Given the description of an element on the screen output the (x, y) to click on. 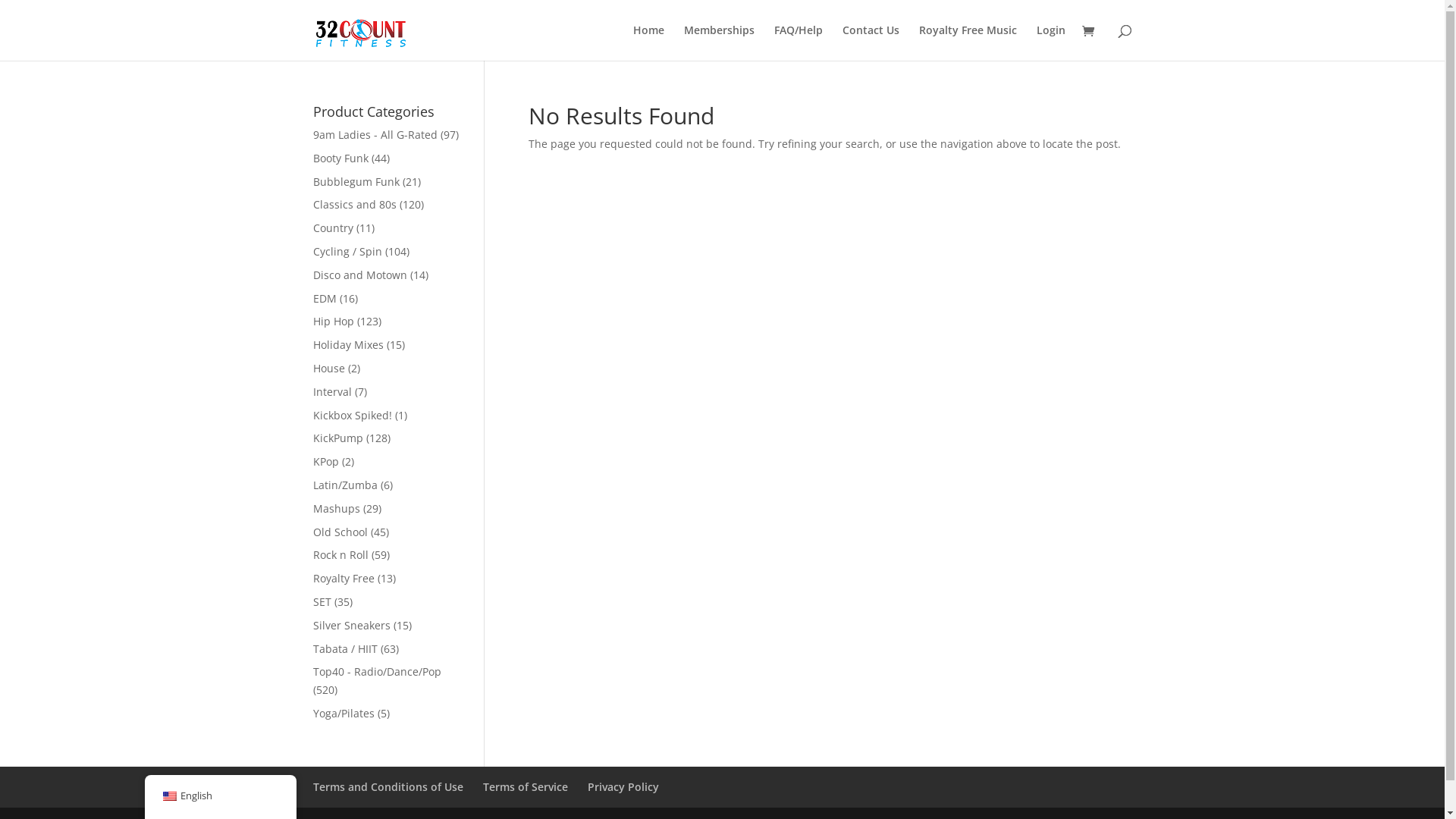
Yoga/Pilates Element type: text (342, 713)
Interval Element type: text (331, 391)
Login Element type: text (1049, 42)
Contact Us Element type: text (869, 42)
Tabata / HIIT Element type: text (344, 648)
KickPump Element type: text (337, 437)
Cycling / Spin Element type: text (346, 251)
Terms and Conditions of Use Element type: text (387, 786)
House Element type: text (328, 367)
FAQ/Help Element type: text (797, 42)
KPop Element type: text (325, 461)
9am Ladies - All G-Rated Element type: text (374, 134)
Old School Element type: text (339, 531)
Holiday Mixes Element type: text (347, 344)
SET Element type: text (321, 601)
Mashups Element type: text (335, 508)
Silver Sneakers Element type: text (350, 625)
Hip Hop Element type: text (332, 320)
Memberships Element type: text (719, 42)
English Element type: text (219, 795)
Bubblegum Funk Element type: text (355, 181)
Booty Funk Element type: text (339, 157)
Top40 - Radio/Dance/Pop Element type: text (376, 671)
Kickbox Spiked! Element type: text (351, 414)
Disco and Motown Element type: text (359, 274)
Privacy Policy Element type: text (622, 786)
Royalty Free Music Element type: text (967, 42)
Country Element type: text (332, 227)
Home Element type: text (647, 42)
Royalty Free Element type: text (342, 578)
Latin/Zumba Element type: text (344, 484)
Terms of Service Element type: text (524, 786)
Rock n Roll Element type: text (339, 554)
Classics and 80s Element type: text (353, 204)
EDM Element type: text (323, 298)
English Element type: hover (168, 795)
